Given the description of an element on the screen output the (x, y) to click on. 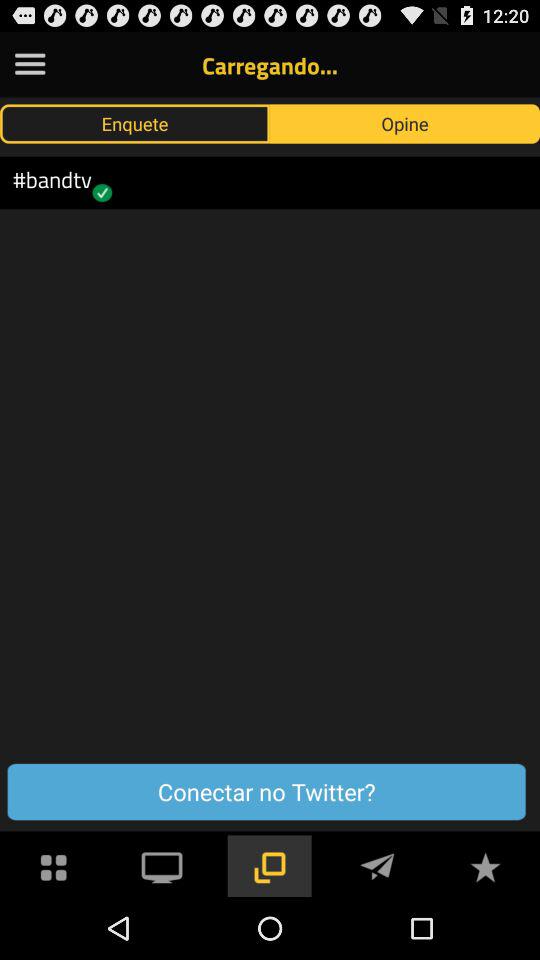
swipe until the enquete icon (135, 123)
